Given the description of an element on the screen output the (x, y) to click on. 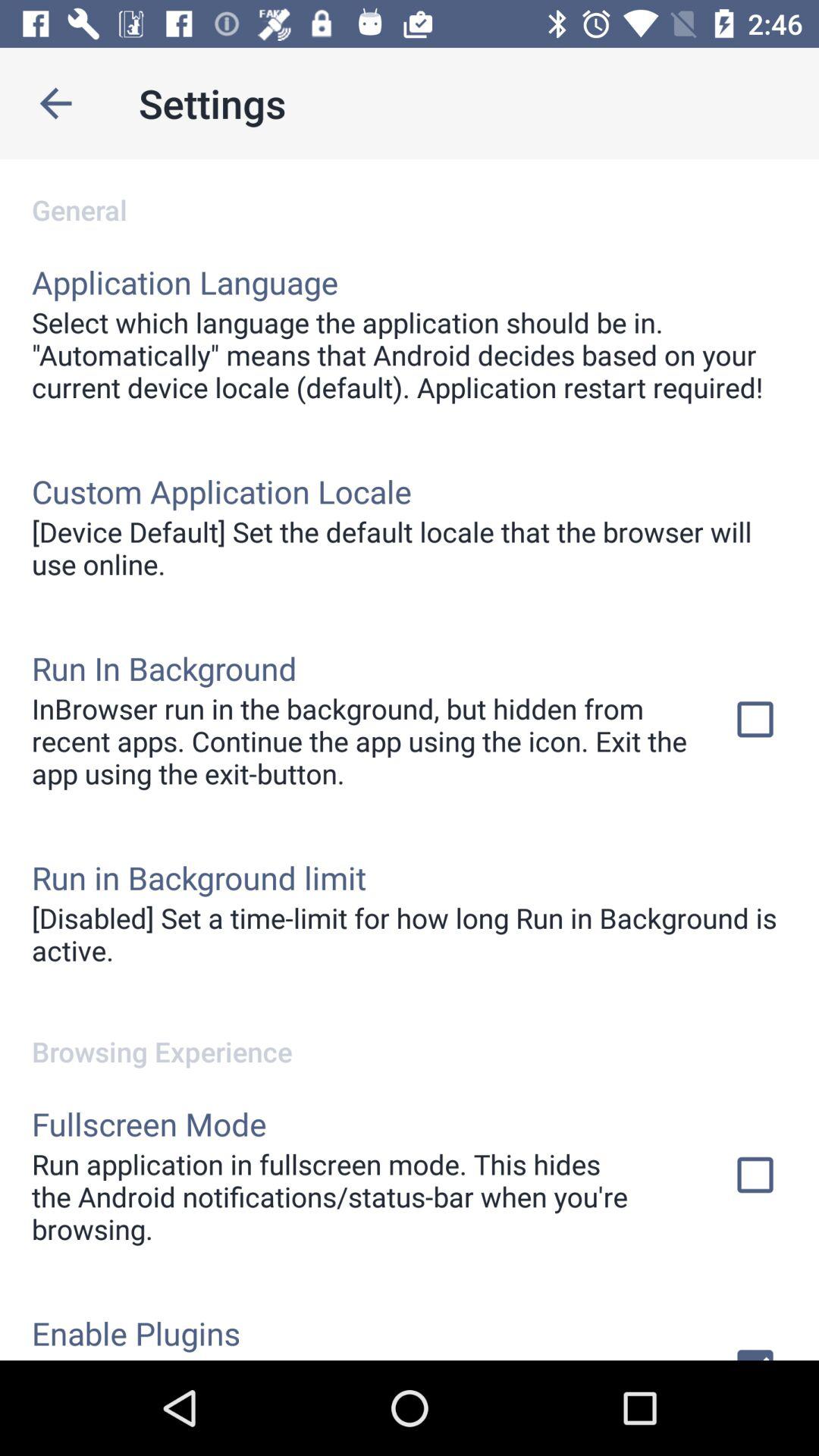
jump until the browsing experience item (409, 1035)
